Given the description of an element on the screen output the (x, y) to click on. 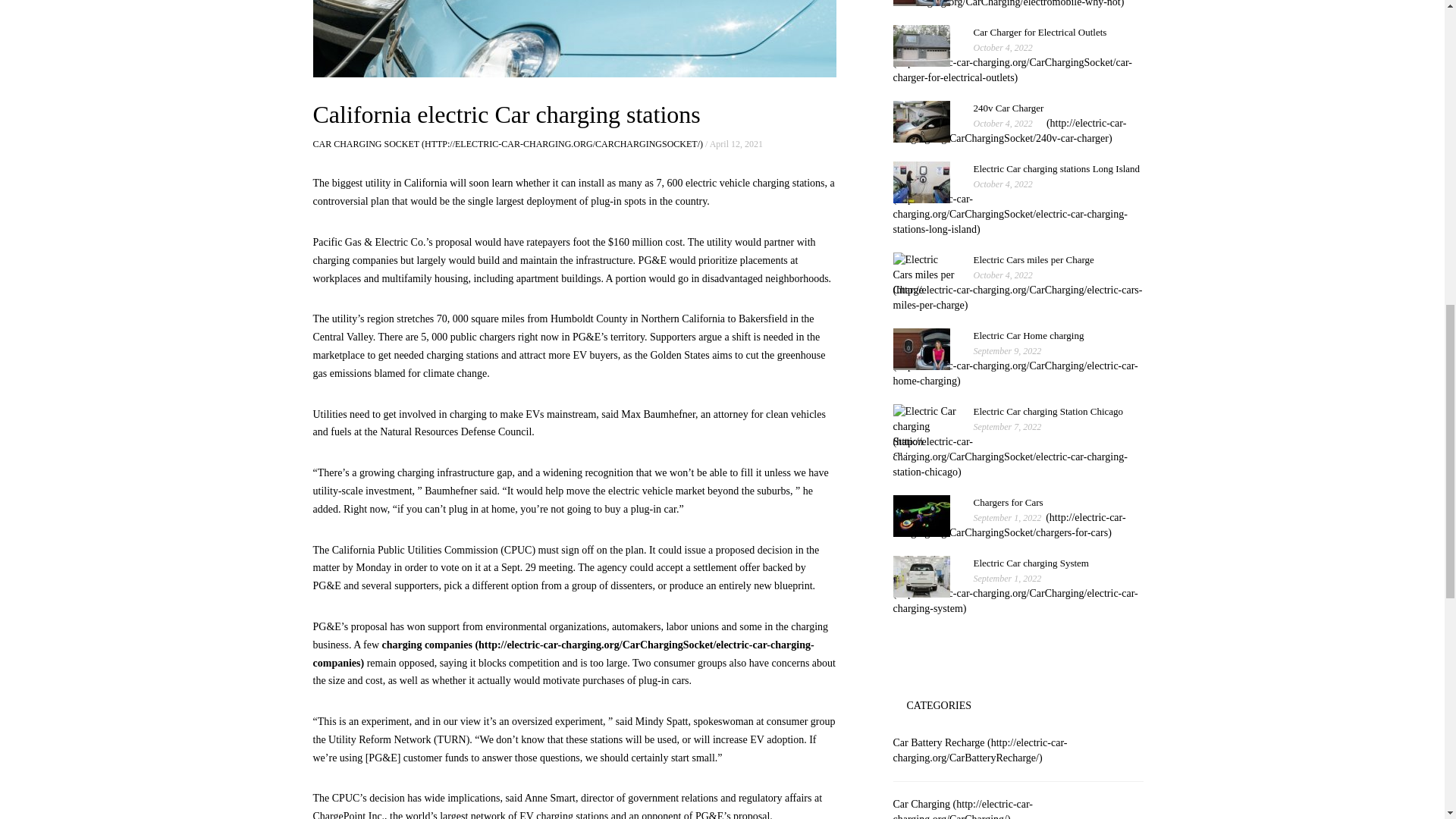
CAR CHARGING SOCKET (507, 143)
View all posts filed under Car Battery Recharge (980, 750)
charging companies (563, 654)
Electric-Car charging Companies (1012, 62)
Car Battery Recharge (563, 654)
